Given the description of an element on the screen output the (x, y) to click on. 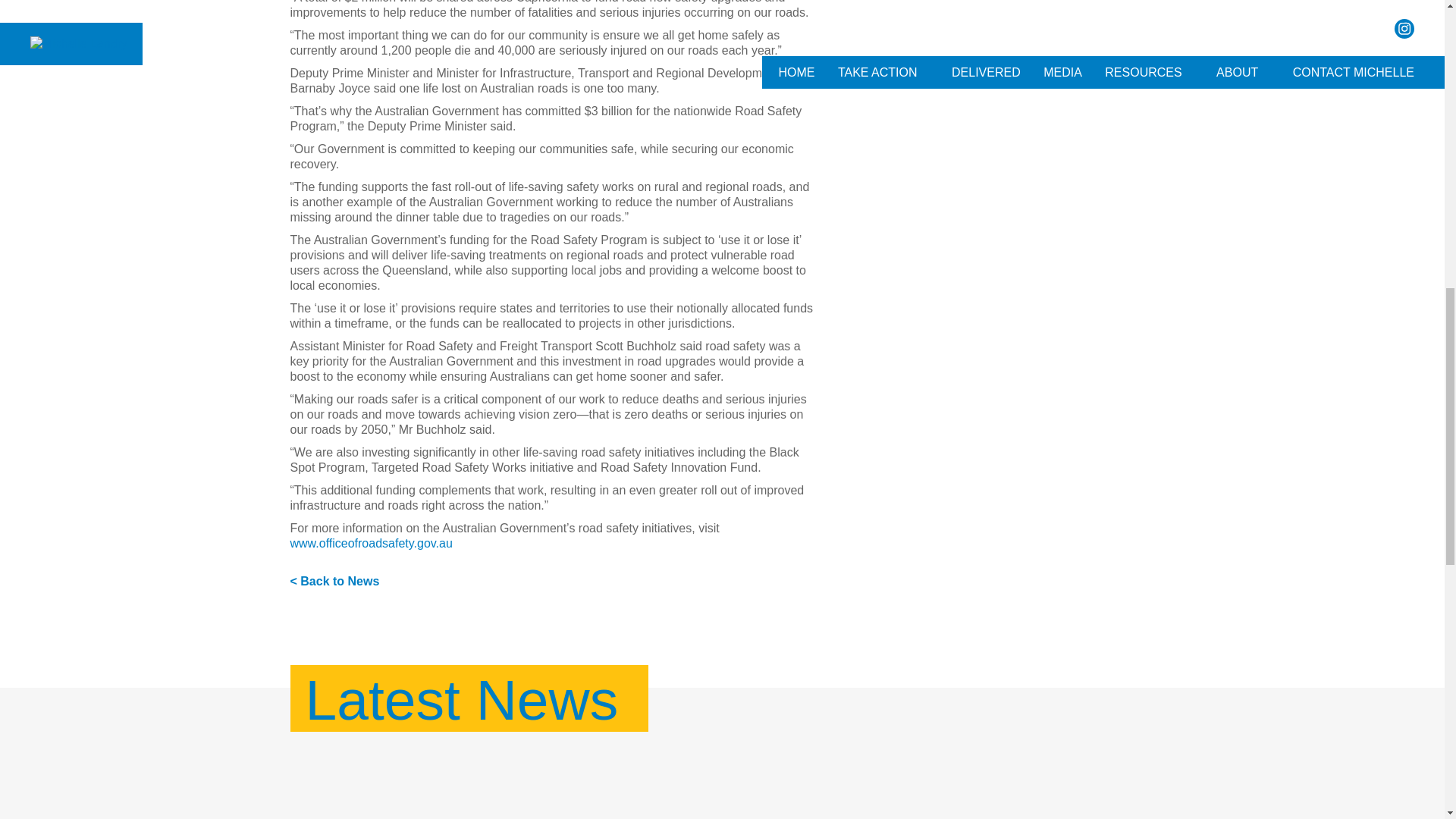
DSC01961 (1017, 790)
www.officeofroadsafety.gov.au (370, 543)
Bruce Highway (722, 790)
